Given the description of an element on the screen output the (x, y) to click on. 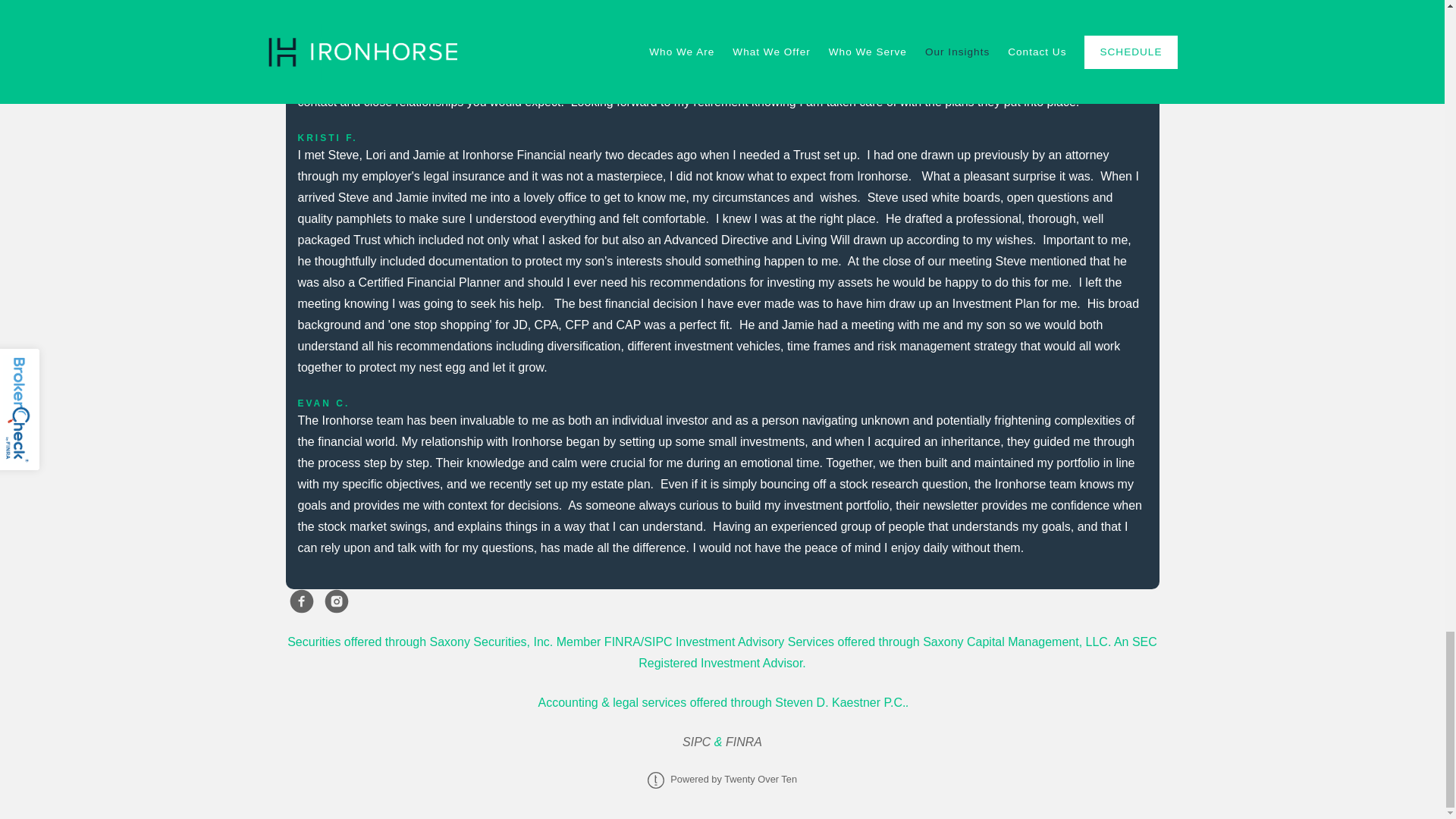
Powered by Twenty Over Ten (721, 778)
SIPC (698, 741)
FINRA (743, 741)
